Given the description of an element on the screen output the (x, y) to click on. 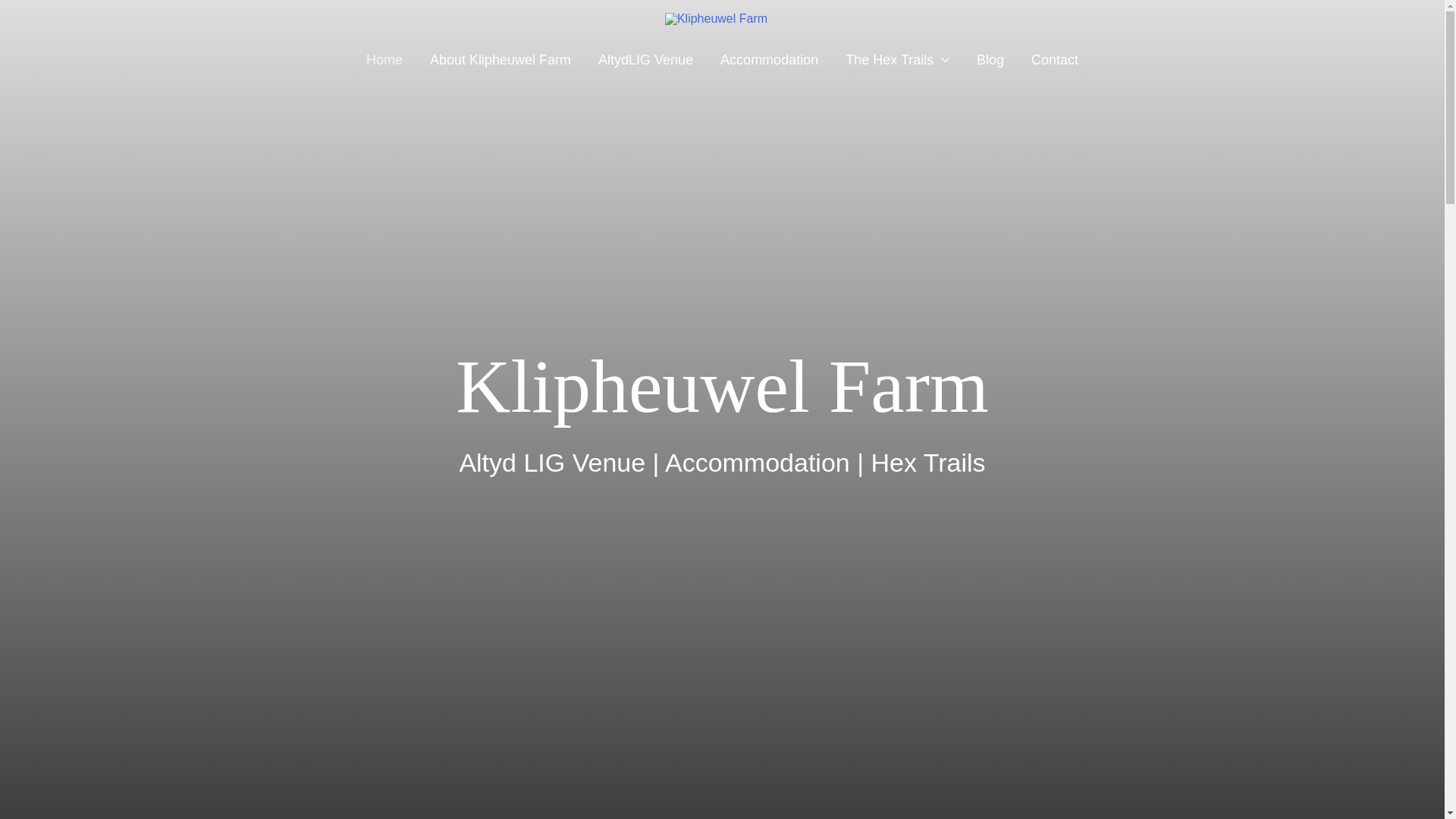
Home (384, 59)
AltydLIG Venue (645, 59)
Blog (989, 59)
Accommodation (768, 59)
The Hex Trails (896, 59)
Contact (1054, 59)
About Klipheuwel Farm (500, 59)
